Given the description of an element on the screen output the (x, y) to click on. 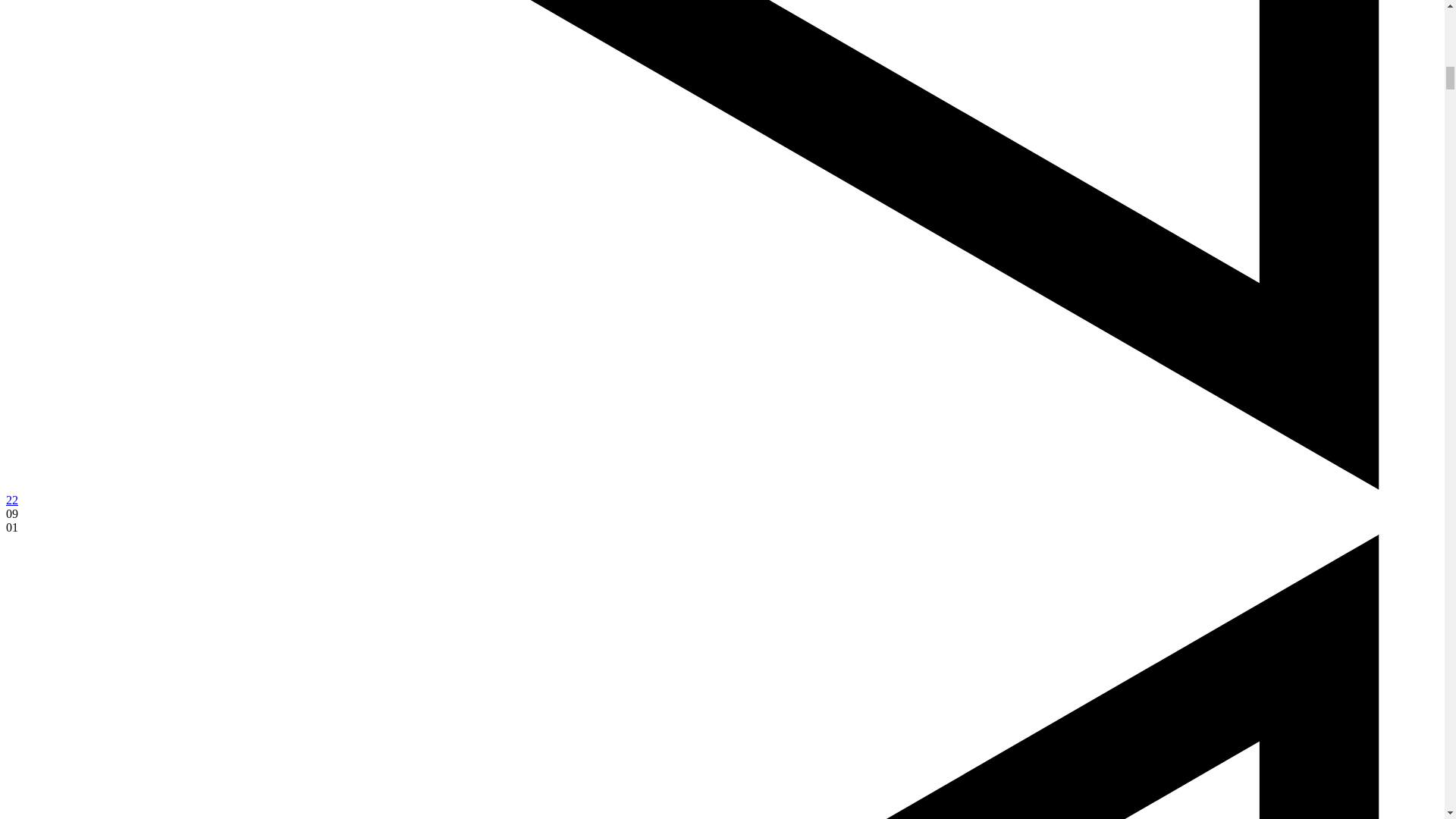
22 (11, 499)
